Given the description of an element on the screen output the (x, y) to click on. 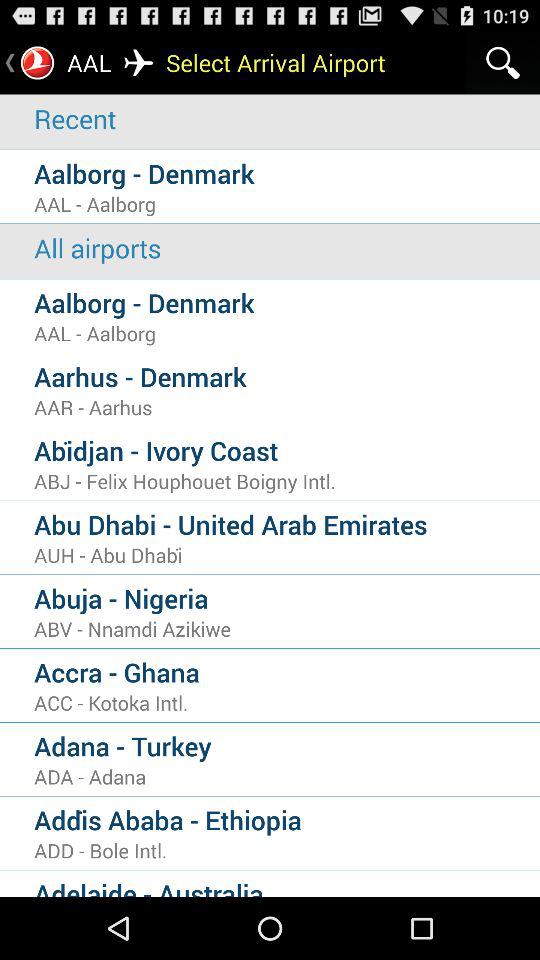
choose addi s ababa icon (287, 819)
